Given the description of an element on the screen output the (x, y) to click on. 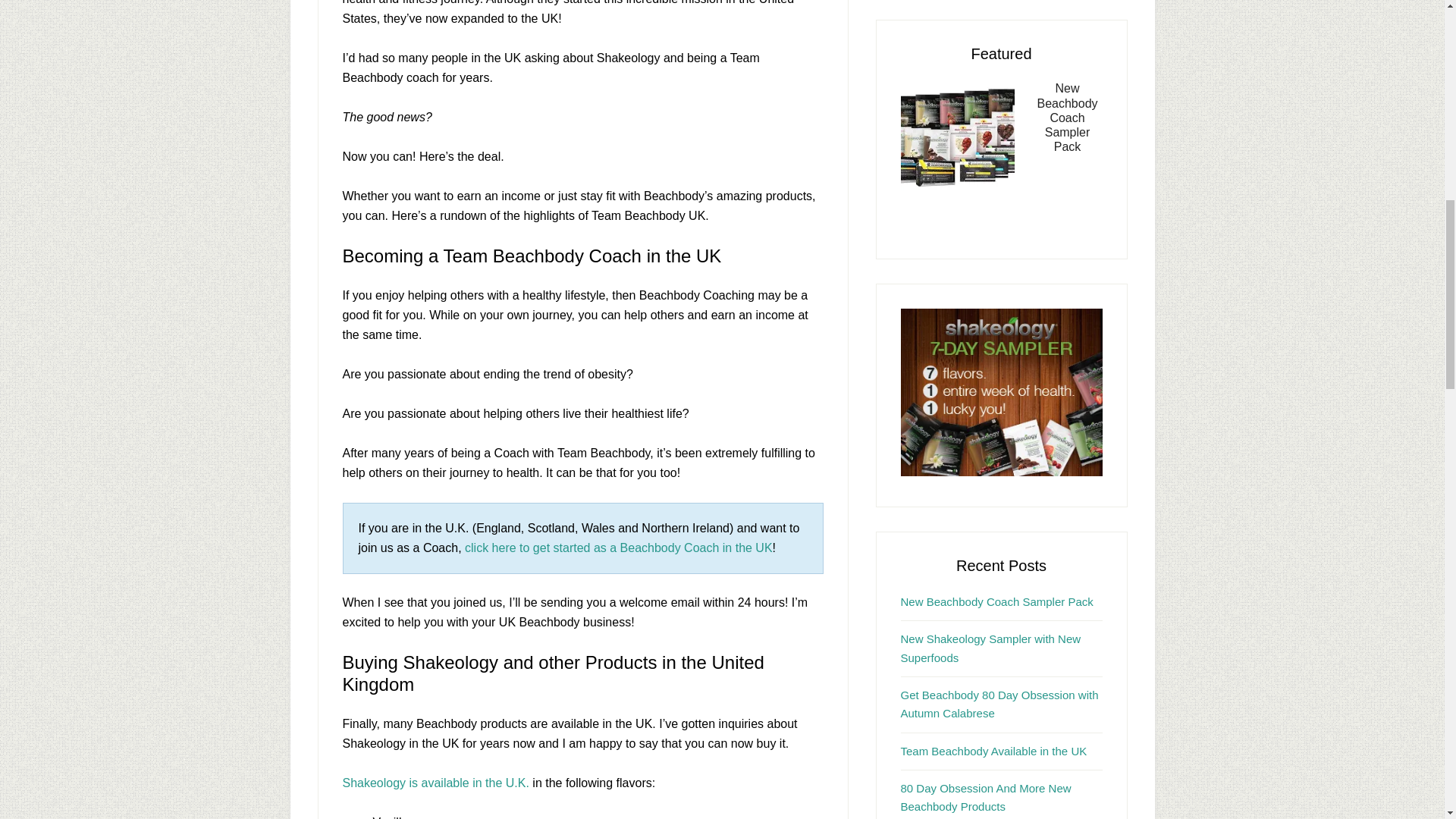
Get Beachbody 80 Day Obsession with Autumn Calabrese (1000, 703)
80 Day Obsession And More New Beachbody Products (986, 797)
click here to get started as a Beachbody Coach in the UK (618, 547)
Shakeology is available in the U.K. (435, 782)
New Beachbody Coach Sampler Pack (997, 601)
New Shakeology Sampler with New Superfoods (991, 647)
Team Beachbody Available in the UK (994, 750)
